Given the description of an element on the screen output the (x, y) to click on. 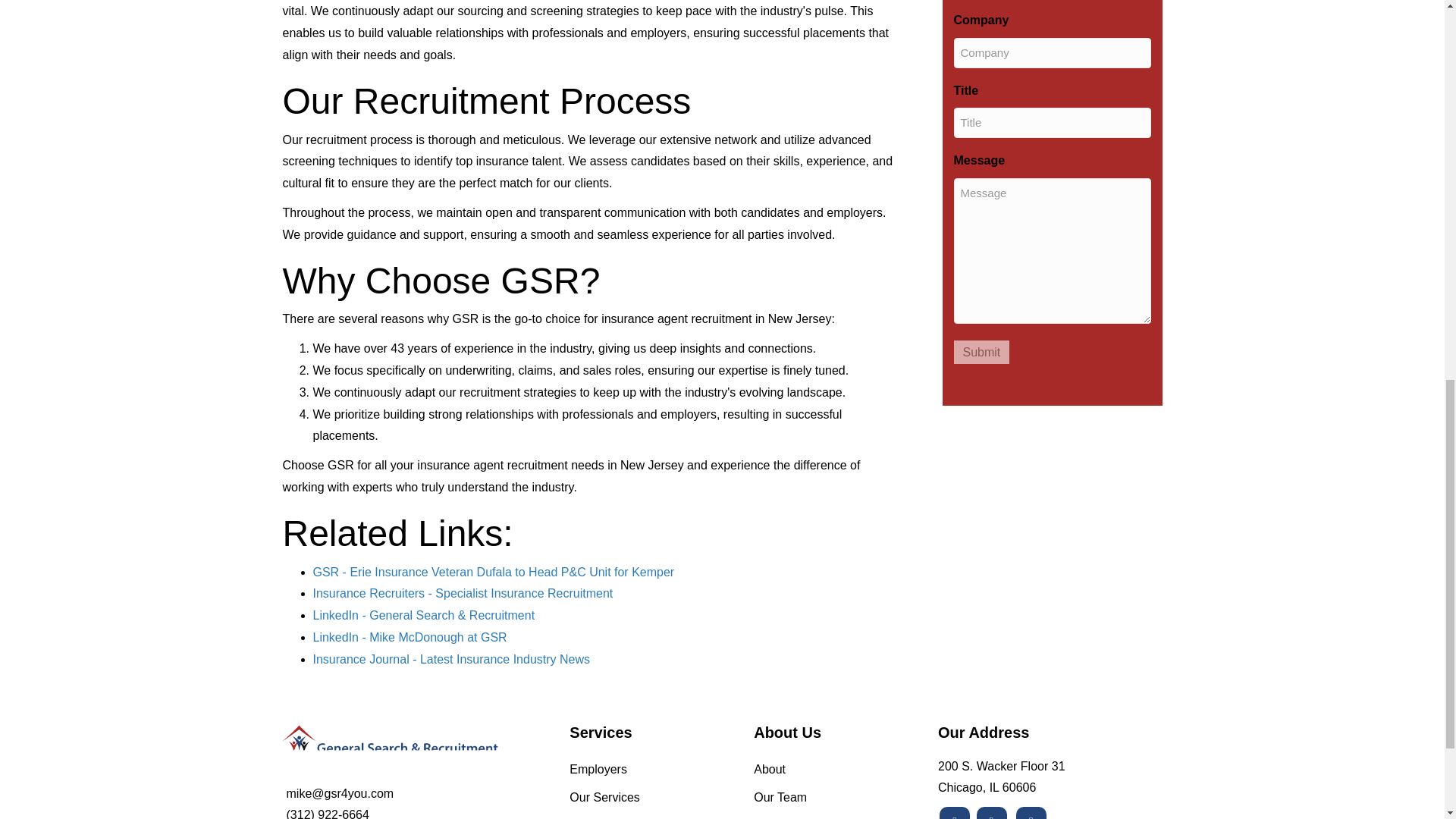
LinkedIn - Mike McDonough at GSR (409, 636)
Submit (981, 351)
Insurance Journal - Latest Insurance Industry News (451, 658)
Employers (646, 776)
Submit (981, 351)
GSR-Logo (388, 745)
About (830, 776)
Our Team (830, 805)
Our Services (646, 805)
Insurance Recruiters - Specialist Insurance Recruitment (462, 593)
